Given the description of an element on the screen output the (x, y) to click on. 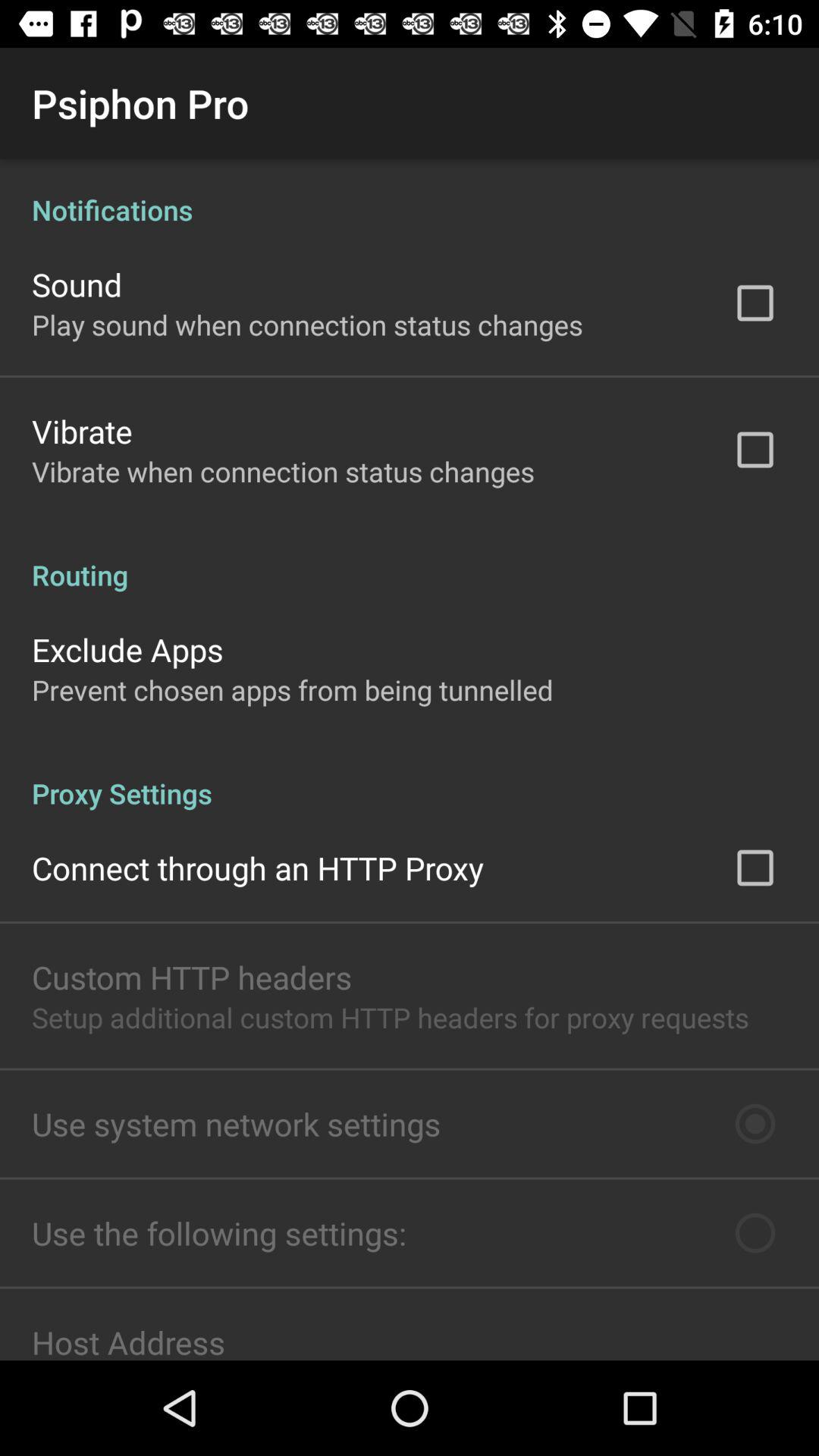
turn on the prevent chosen apps (292, 689)
